Given the description of an element on the screen output the (x, y) to click on. 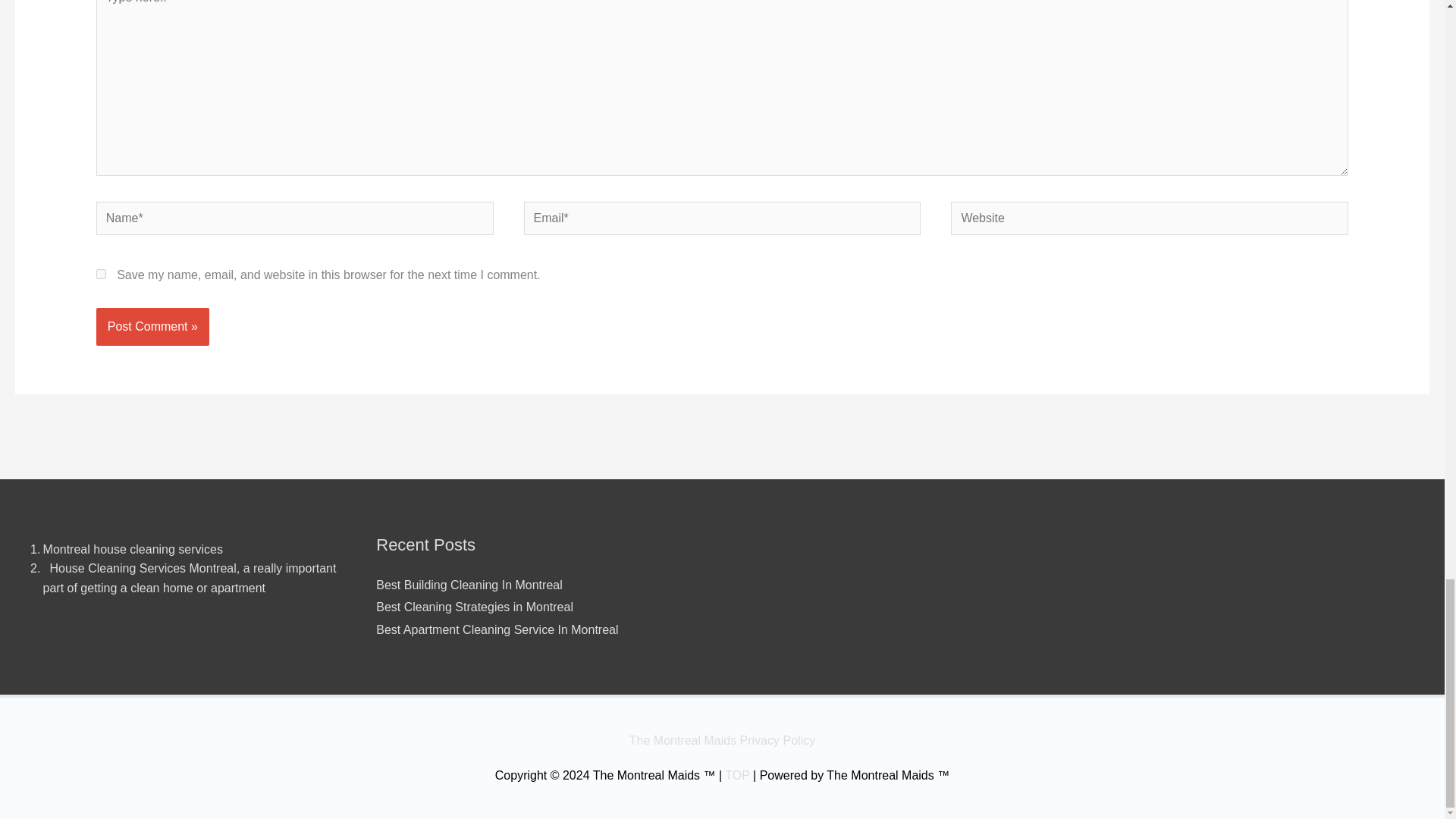
yes (101, 274)
